Given the description of an element on the screen output the (x, y) to click on. 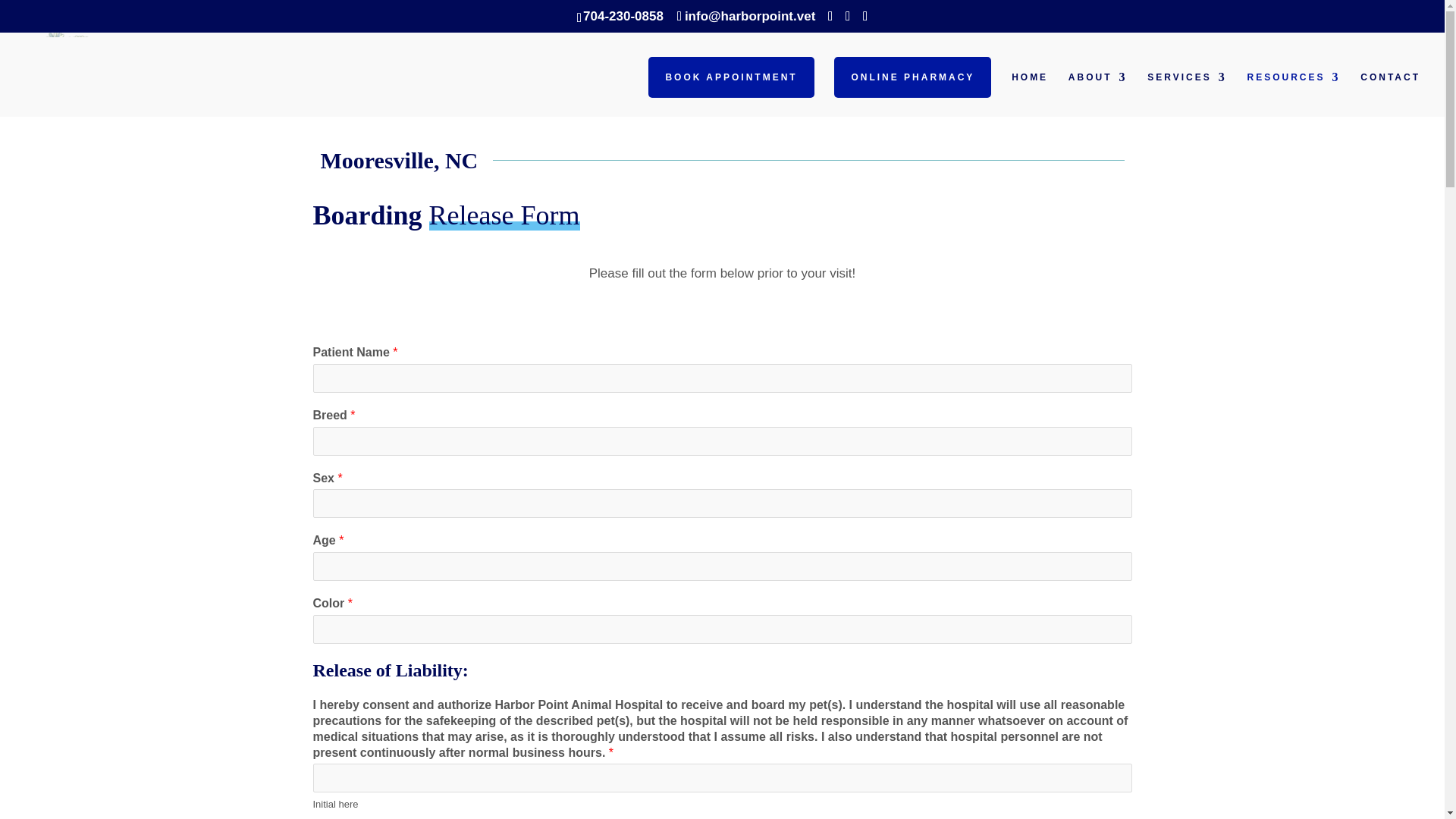
704-230-0858 (623, 16)
RESOURCES (1292, 94)
ONLINE PHARMACY (912, 76)
BOOK APPOINTMENT (730, 76)
ABOUT (1097, 94)
SERVICES (1186, 94)
